Given the description of an element on the screen output the (x, y) to click on. 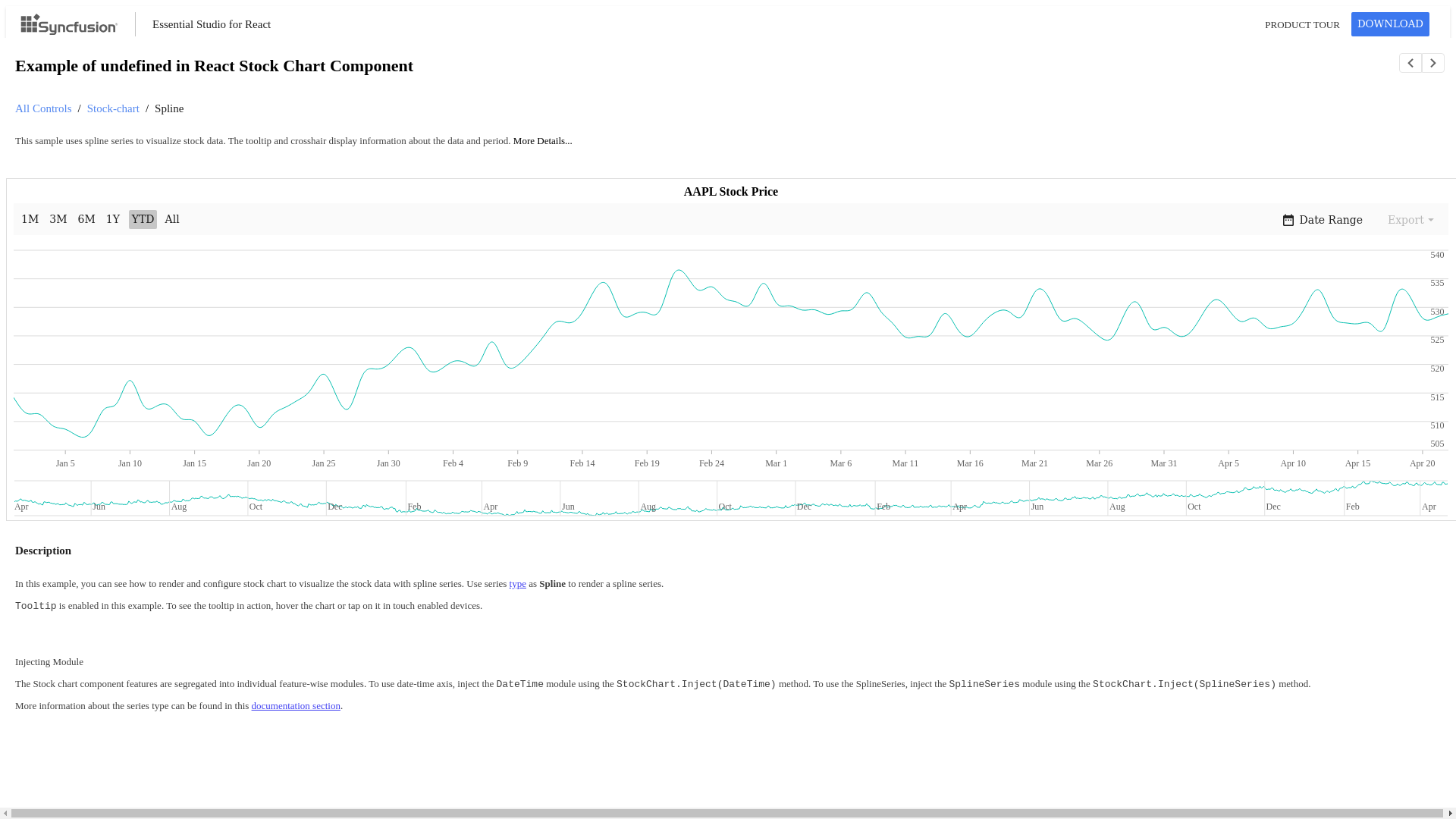
DOWNLOAD (1390, 22)
DOWNLOAD (1390, 24)
PRODUCT TOUR (1308, 24)
